Given the description of an element on the screen output the (x, y) to click on. 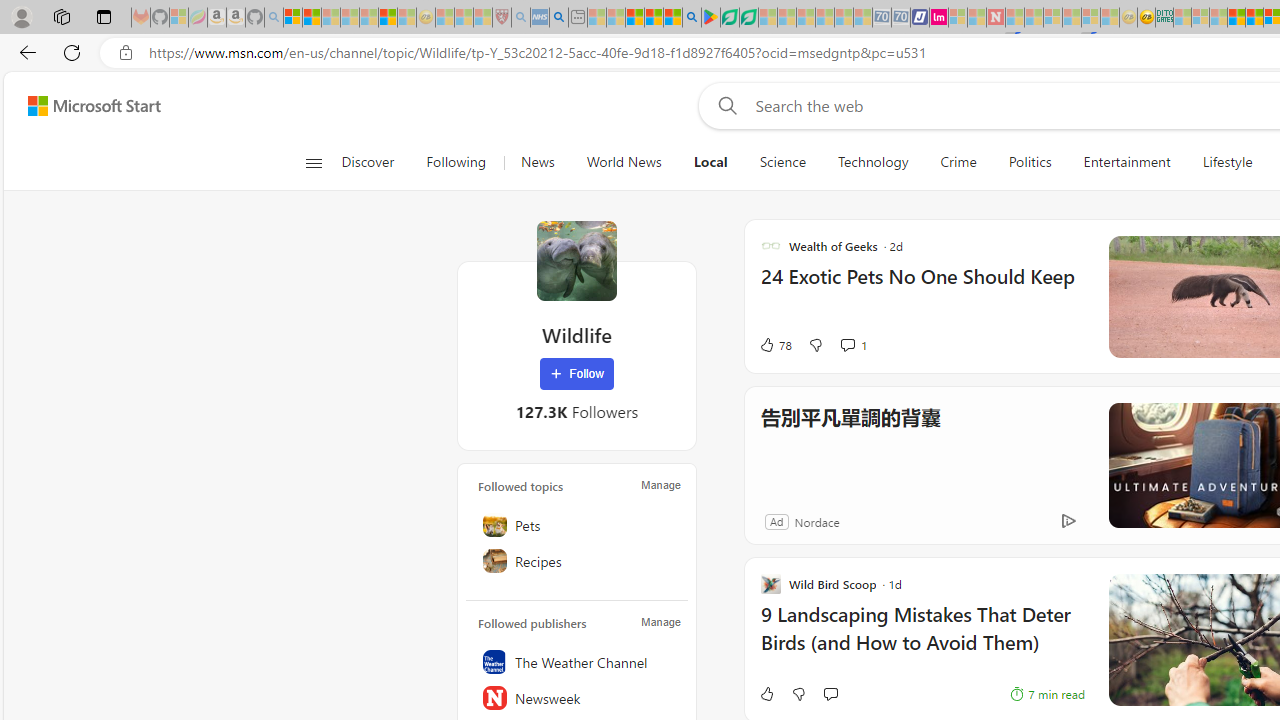
Pets - MSN (654, 17)
